Given the description of an element on the screen output the (x, y) to click on. 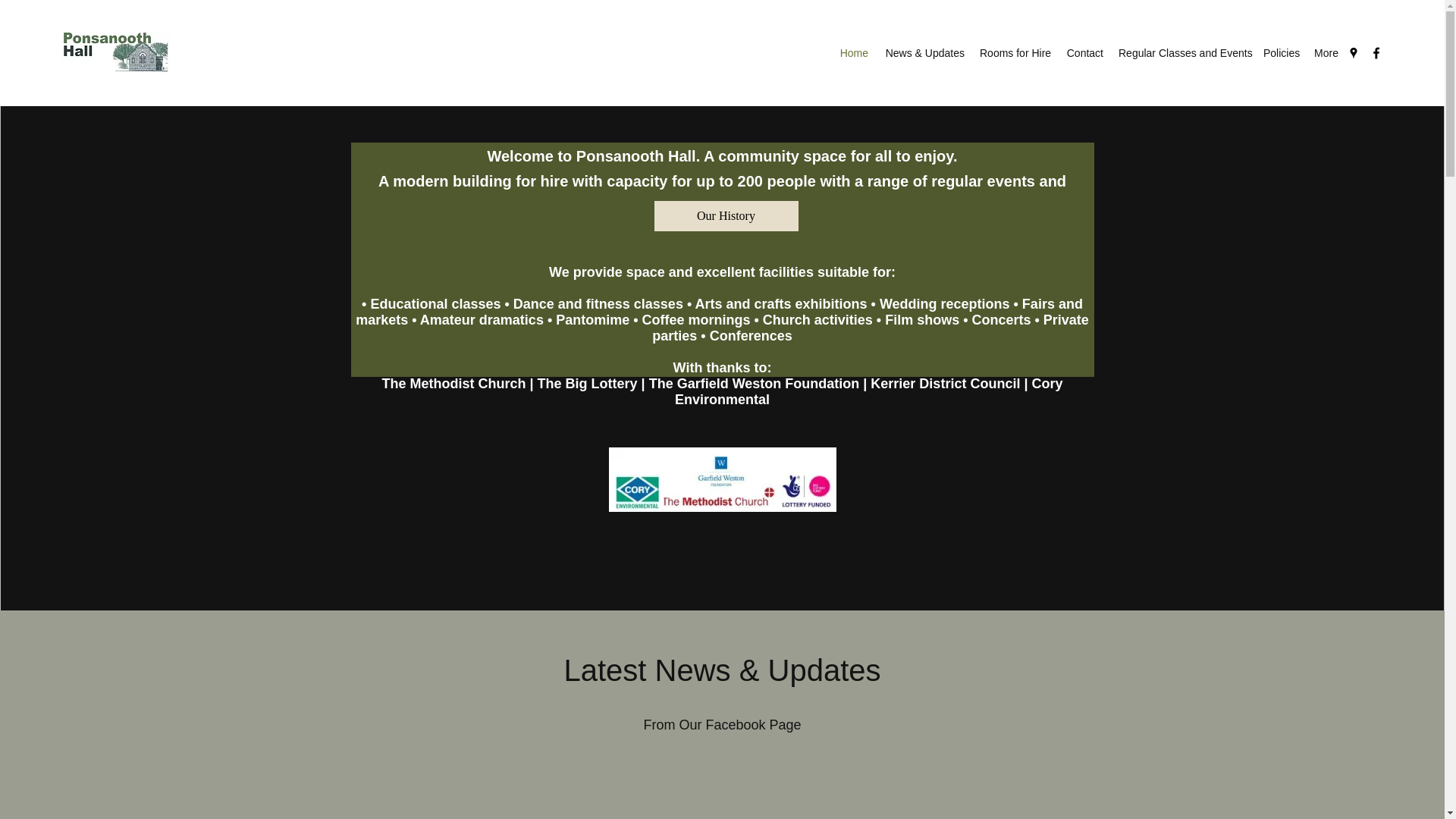
Our History (725, 215)
Contact (1084, 52)
Policies (1280, 52)
Home (853, 52)
Regular Classes and Events (1182, 52)
Rooms for Hire (1015, 52)
